Given the description of an element on the screen output the (x, y) to click on. 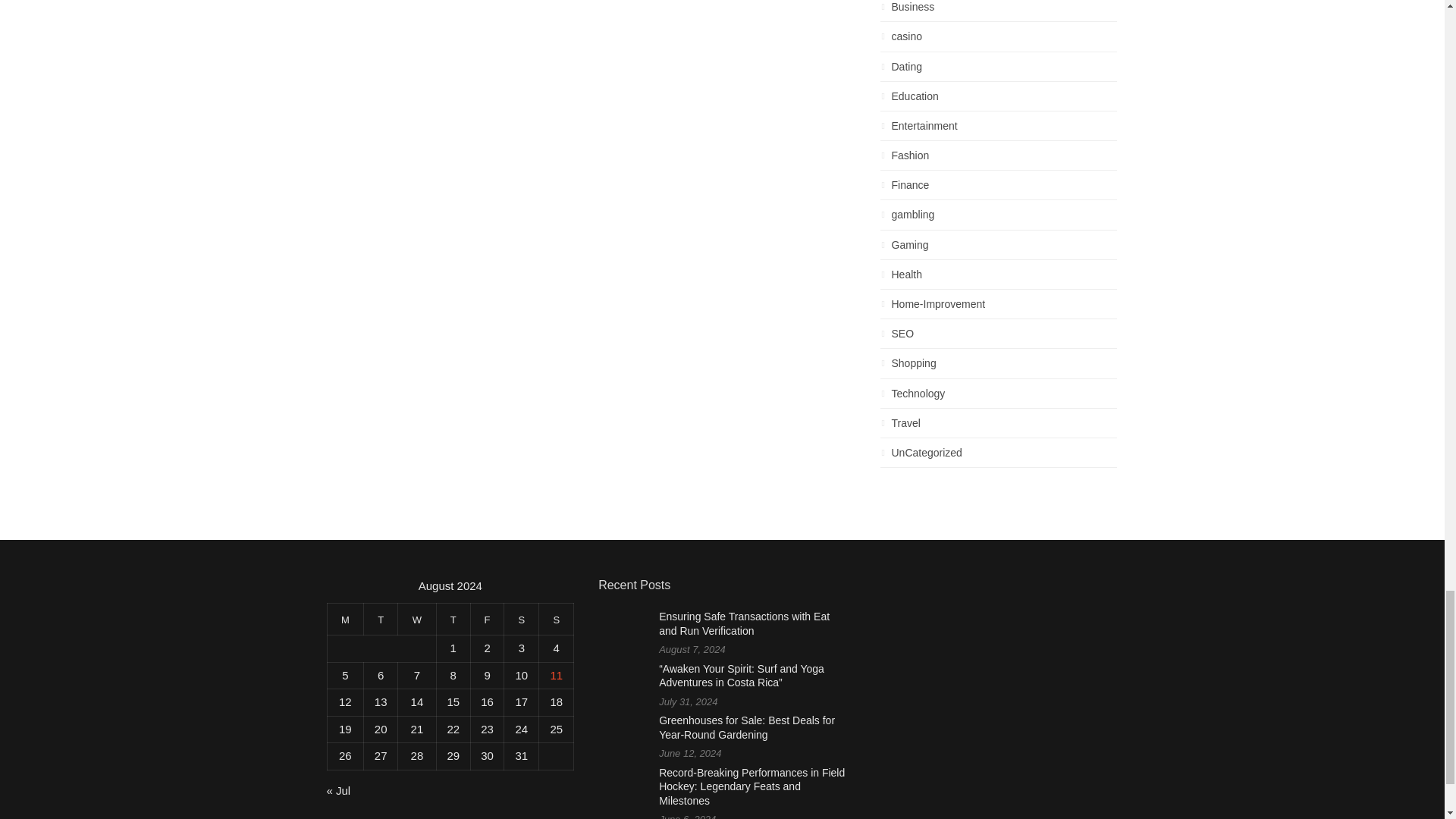
Ensuring Safe Transactions with Eat and Run Verification (744, 623)
Sunday (555, 618)
Wednesday (416, 618)
Monday (345, 618)
Thursday (452, 618)
Tuesday (380, 618)
Friday (486, 618)
Saturday (520, 618)
Greenhouses for Sale: Best Deals for Year-Round Gardening (746, 727)
